Given the description of an element on the screen output the (x, y) to click on. 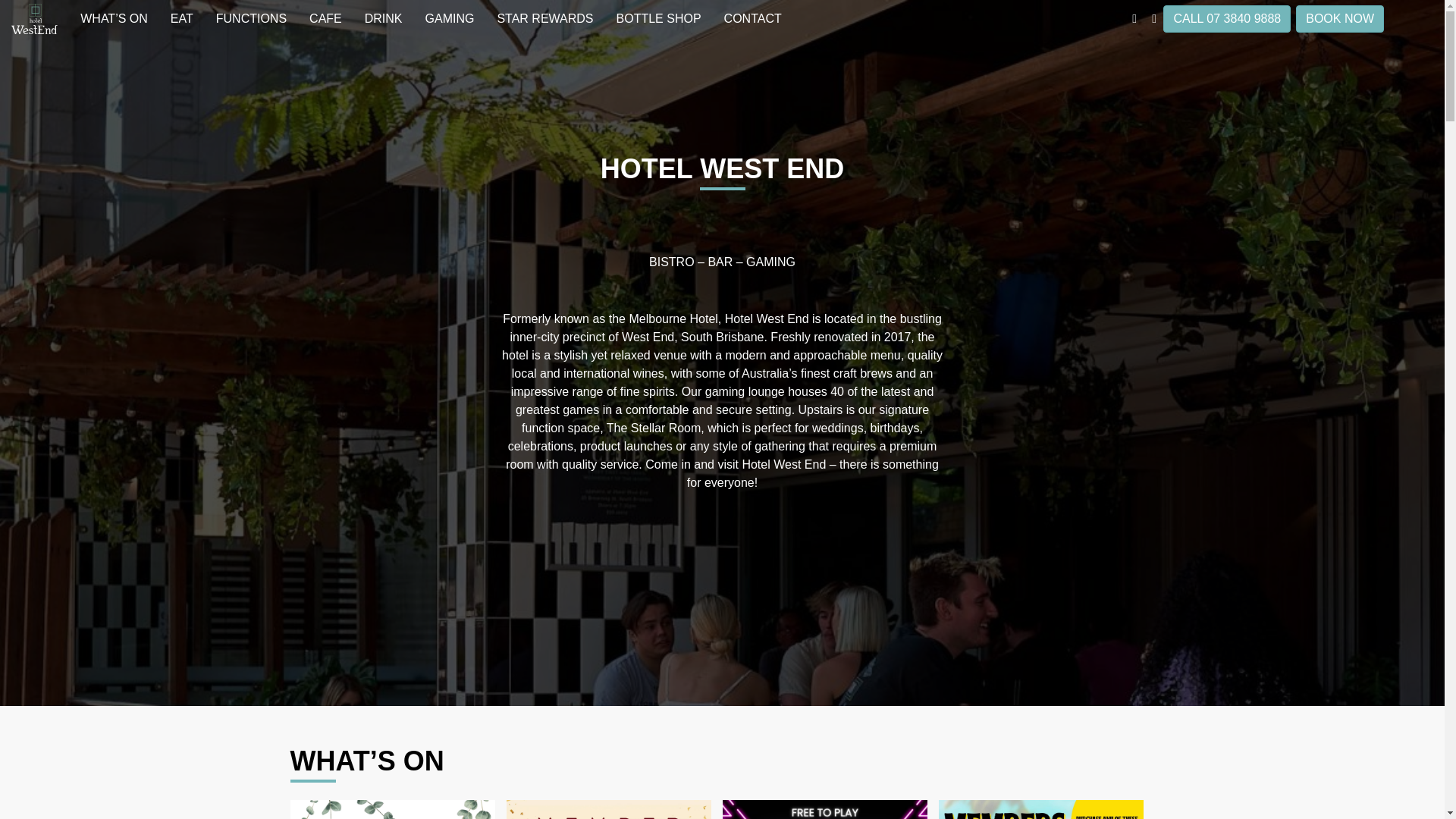
BOTTLE SHOP (659, 18)
CAFE (325, 18)
Hotel West End (34, 18)
EAT (181, 18)
DRINK (383, 18)
CALL 07 3840 9888 (1226, 18)
GAMING (449, 18)
CONTACT (753, 18)
FUNCTIONS (251, 18)
STAR REWARDS (544, 18)
BOOK NOW (1339, 18)
